Given the description of an element on the screen output the (x, y) to click on. 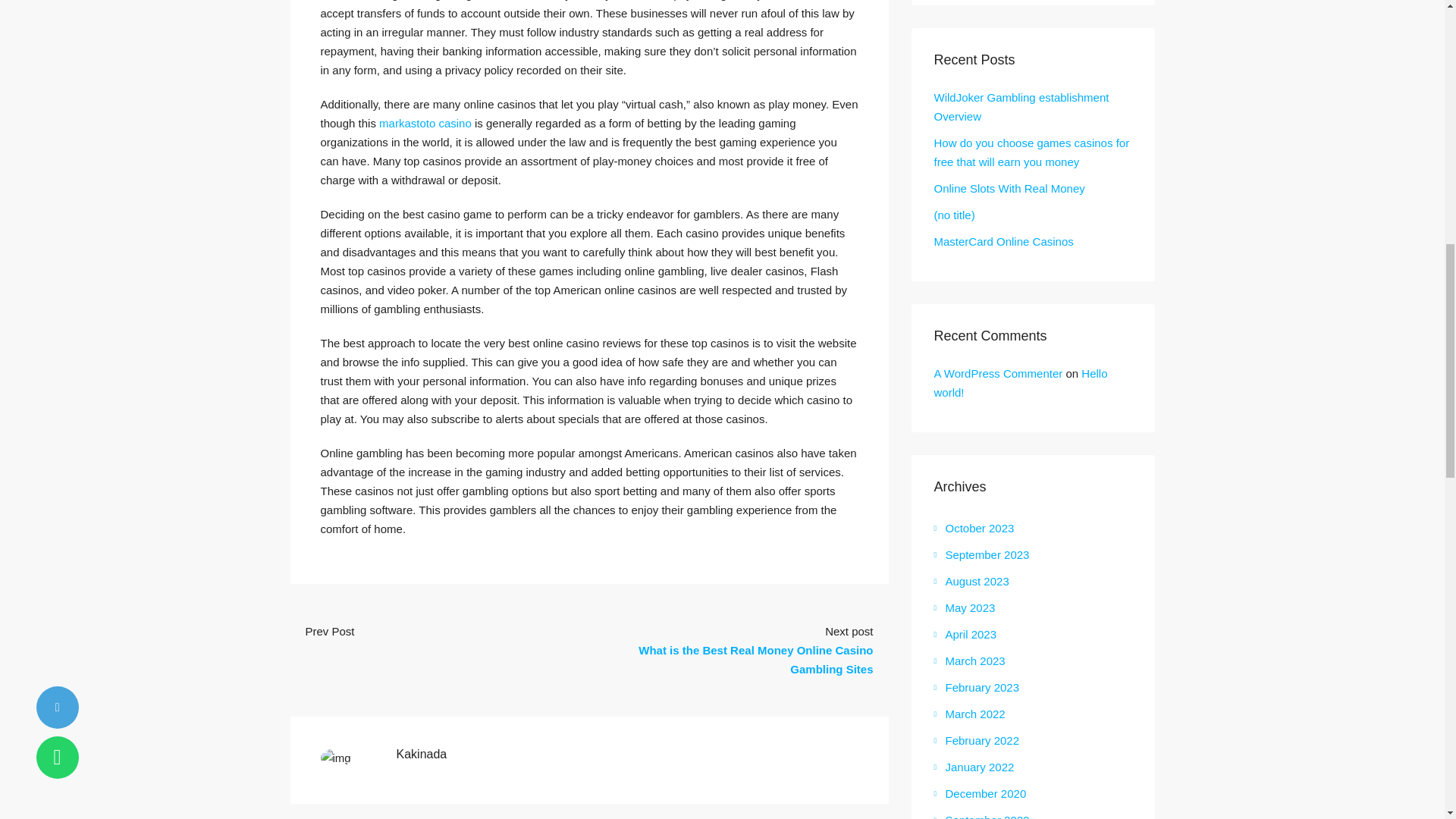
What is the Best Real Money Online Casino Gambling Sites (755, 659)
markastoto casino (424, 123)
